Given the description of an element on the screen output the (x, y) to click on. 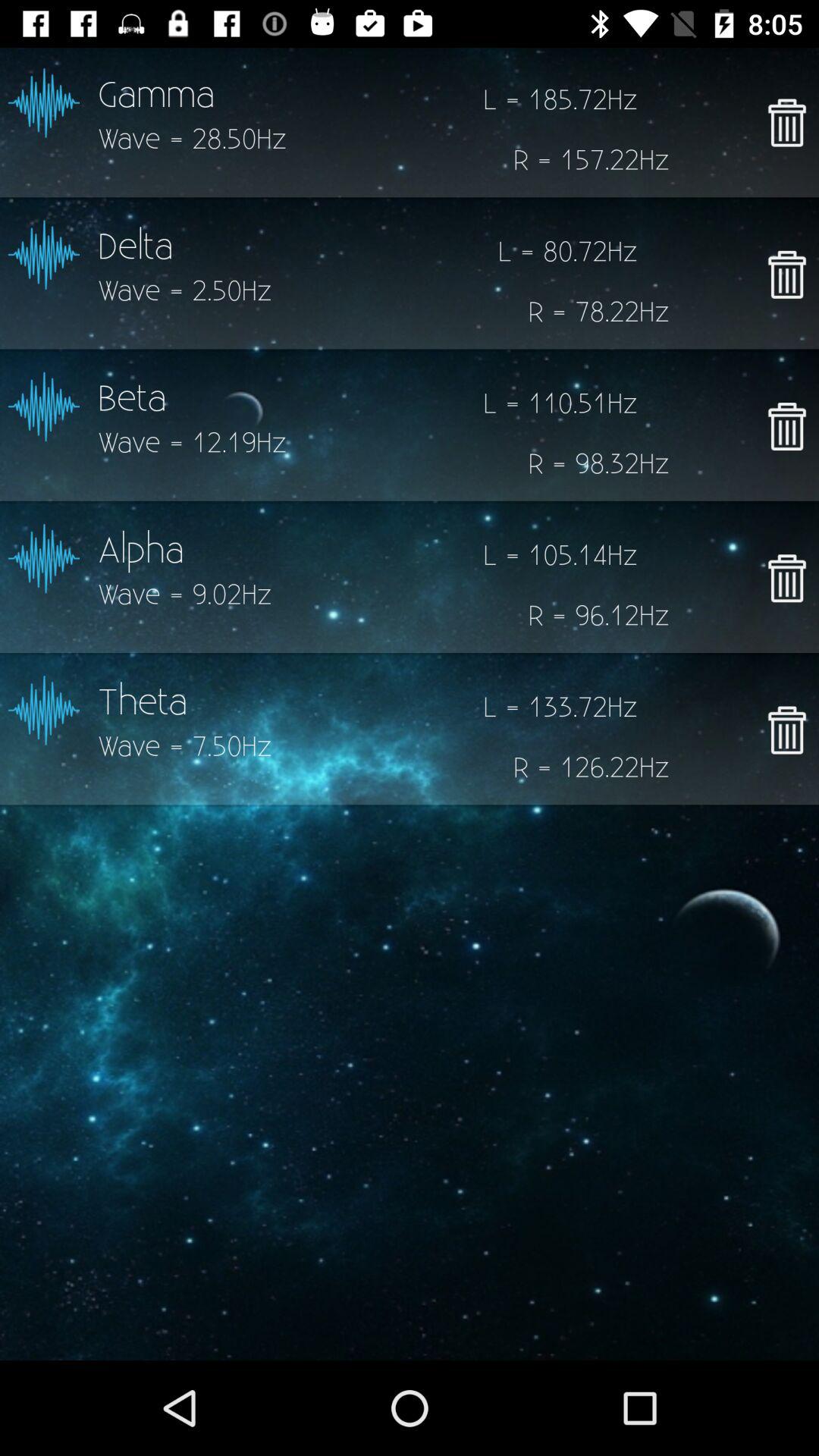
delete icon (787, 425)
